Given the description of an element on the screen output the (x, y) to click on. 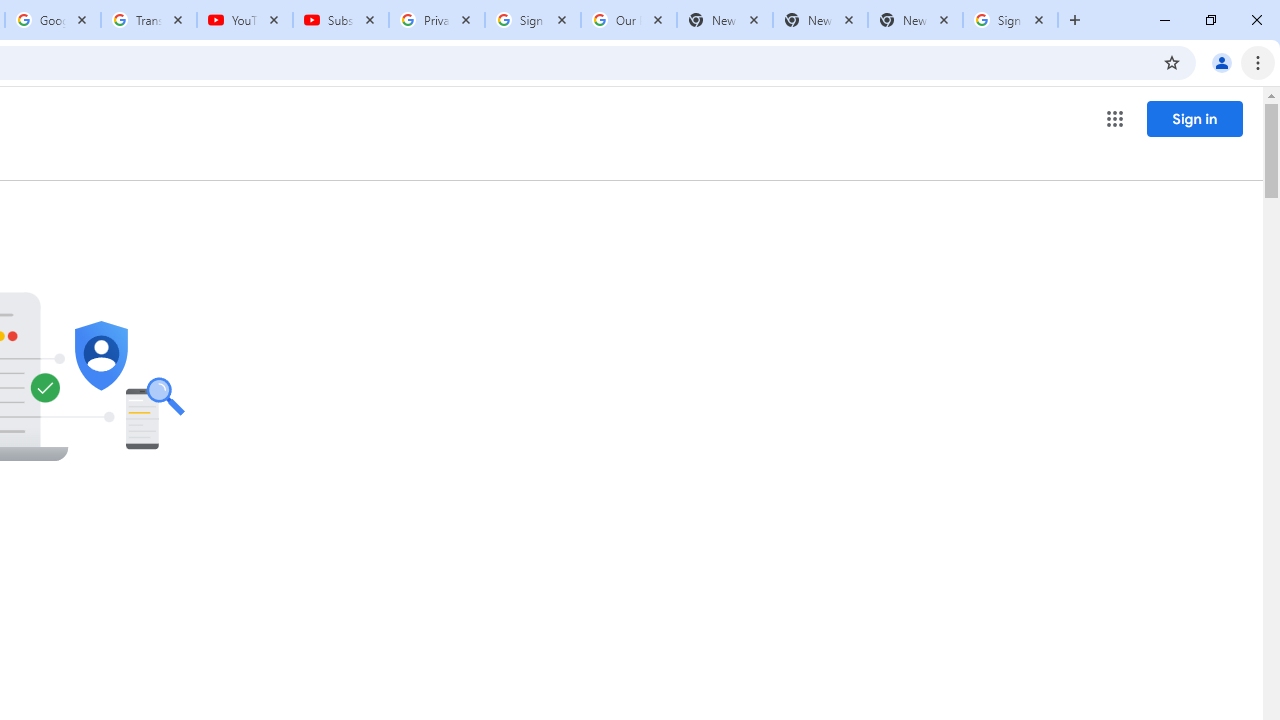
New Tab (914, 20)
Close (1039, 19)
Bookmark this tab (1171, 62)
YouTube (245, 20)
Chrome (1260, 62)
Restore (1210, 20)
Subscriptions - YouTube (341, 20)
Sign in (1194, 118)
Google apps (1114, 118)
Sign in - Google Accounts (533, 20)
Minimize (1165, 20)
New Tab (1075, 20)
